Given the description of an element on the screen output the (x, y) to click on. 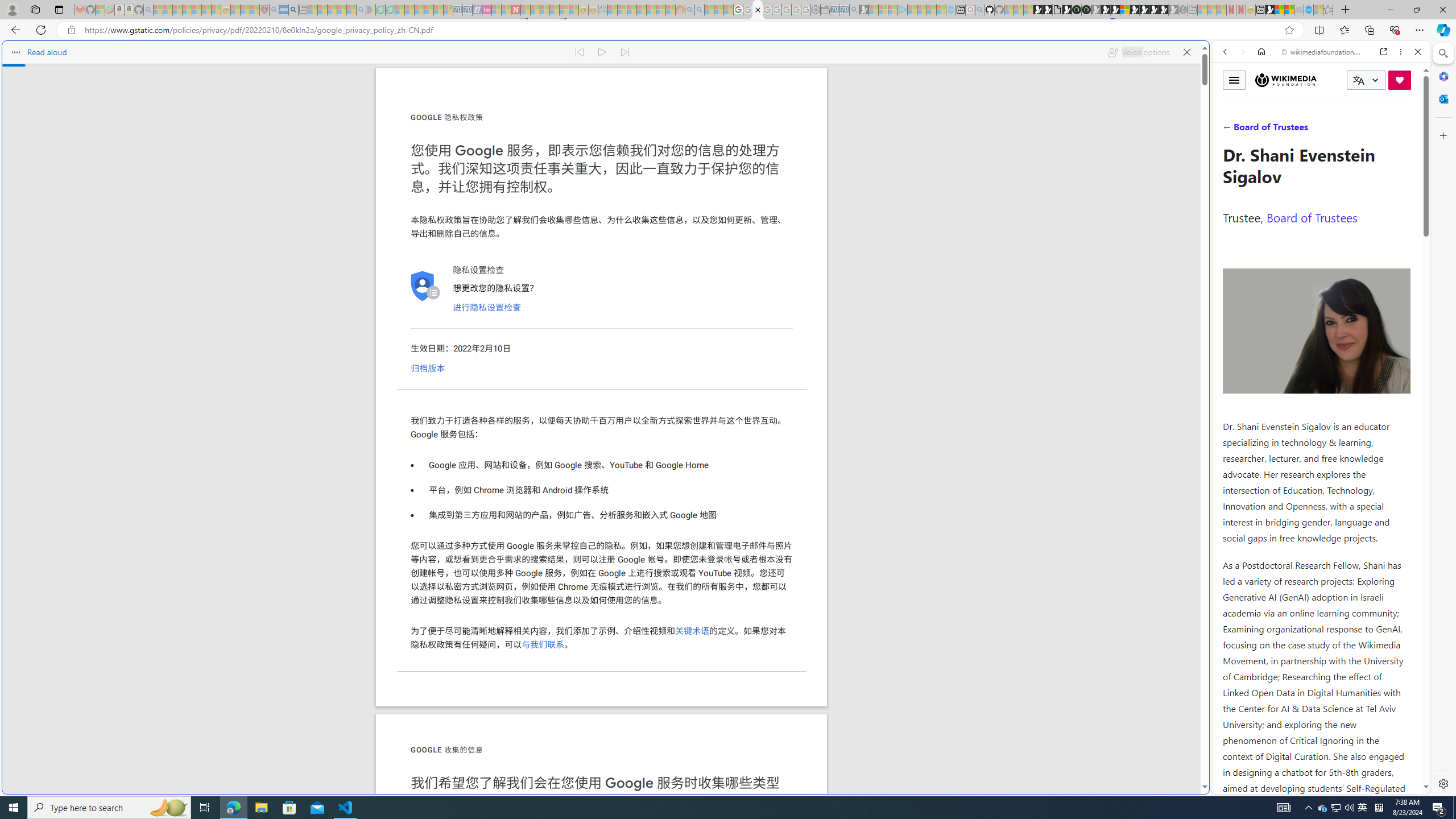
MSNBC - MSN - Sleeping (611, 9)
Cheap Car Rentals - Save70.com - Sleeping (844, 9)
Navy Quest (1299, 9)
New Report Confirms 2023 Was Record Hot | Watch - Sleeping (196, 9)
